Given the description of an element on the screen output the (x, y) to click on. 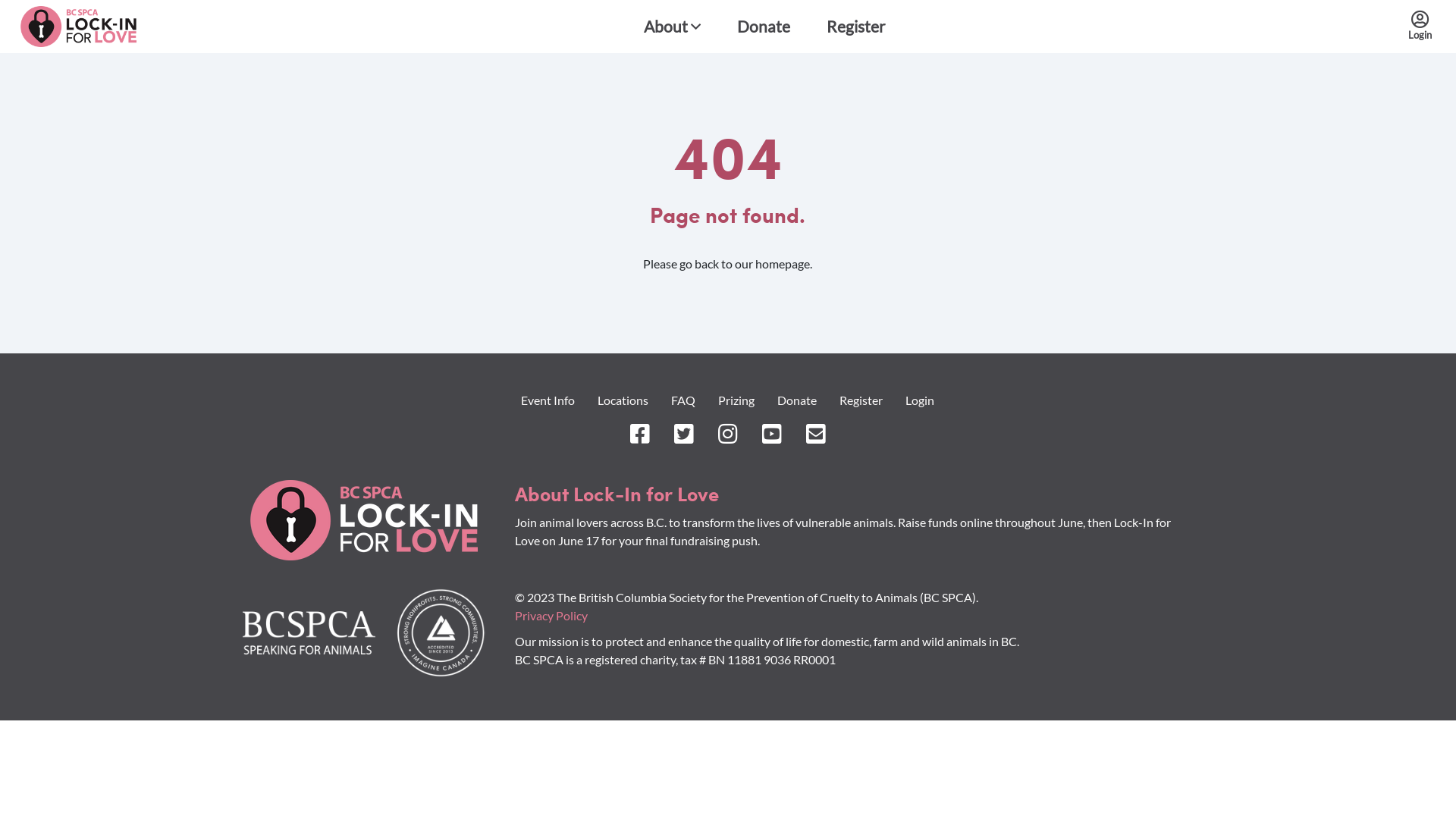
About  Element type: text (671, 26)
FAQ Element type: text (682, 399)
Privacy Policy Element type: text (550, 615)
Donate Element type: text (763, 26)
Login Element type: text (1419, 25)
Register Element type: text (855, 26)
Register Element type: text (861, 399)
Prizing Element type: text (735, 399)
Locations Element type: text (622, 399)
Login Element type: text (919, 399)
Event Info Element type: text (547, 399)
Donate Element type: text (796, 399)
